Given the description of an element on the screen output the (x, y) to click on. 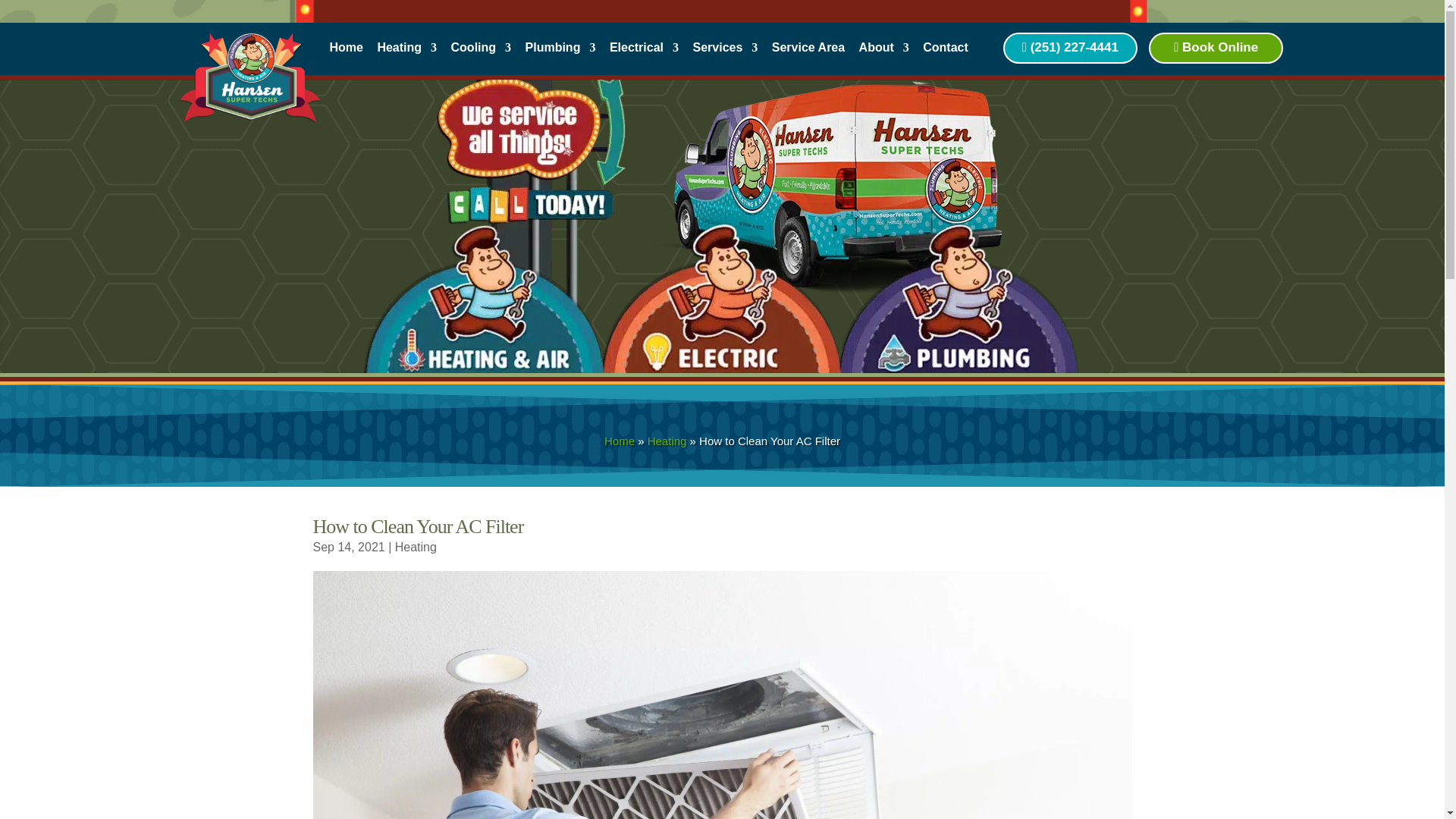
About (883, 51)
Services (725, 51)
Heating (406, 51)
Service Area (807, 51)
Cooling (481, 51)
Electrical (644, 51)
Book Online (1216, 47)
Plumbing (560, 51)
Heating (415, 546)
Contact (945, 51)
Home (345, 51)
Home (619, 440)
Heating (667, 440)
Heating (667, 440)
Home (619, 440)
